Given the description of an element on the screen output the (x, y) to click on. 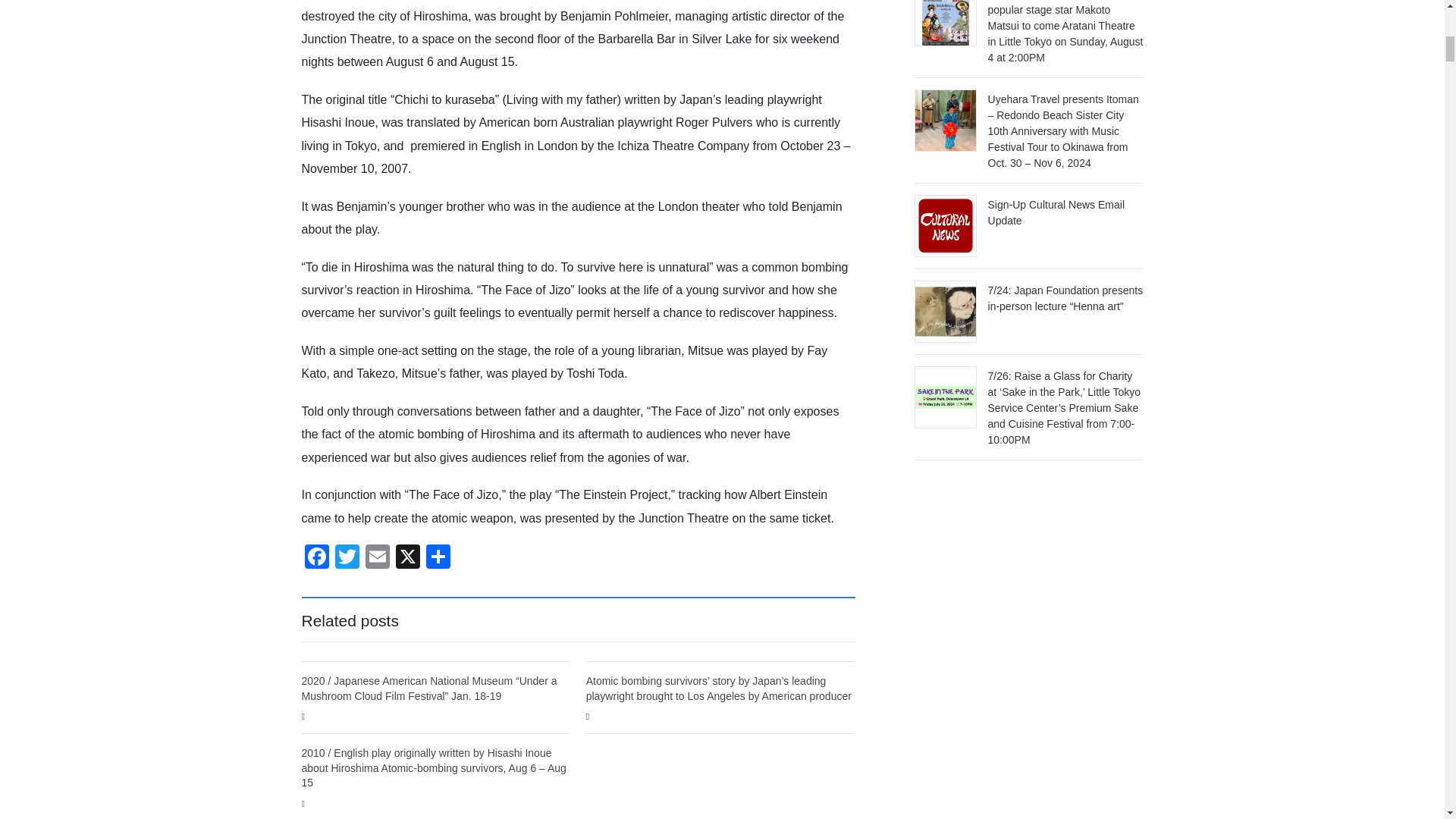
X (408, 558)
X (408, 558)
Email (377, 558)
Facebook (316, 558)
Twitter (346, 558)
Share (437, 558)
Facebook (316, 558)
Email (377, 558)
Twitter (346, 558)
